Given the description of an element on the screen output the (x, y) to click on. 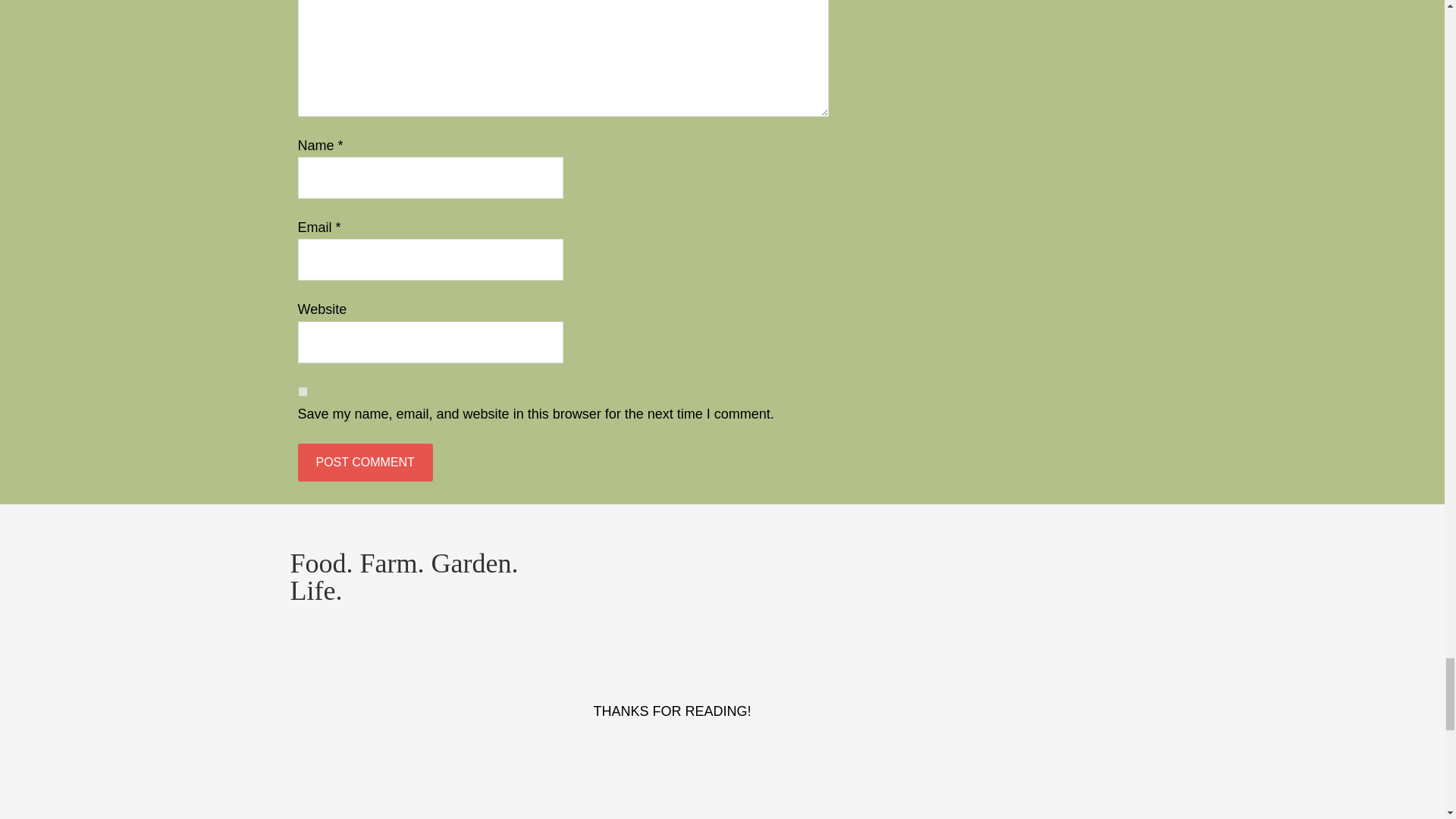
yes (302, 391)
Post Comment (364, 462)
